Given the description of an element on the screen output the (x, y) to click on. 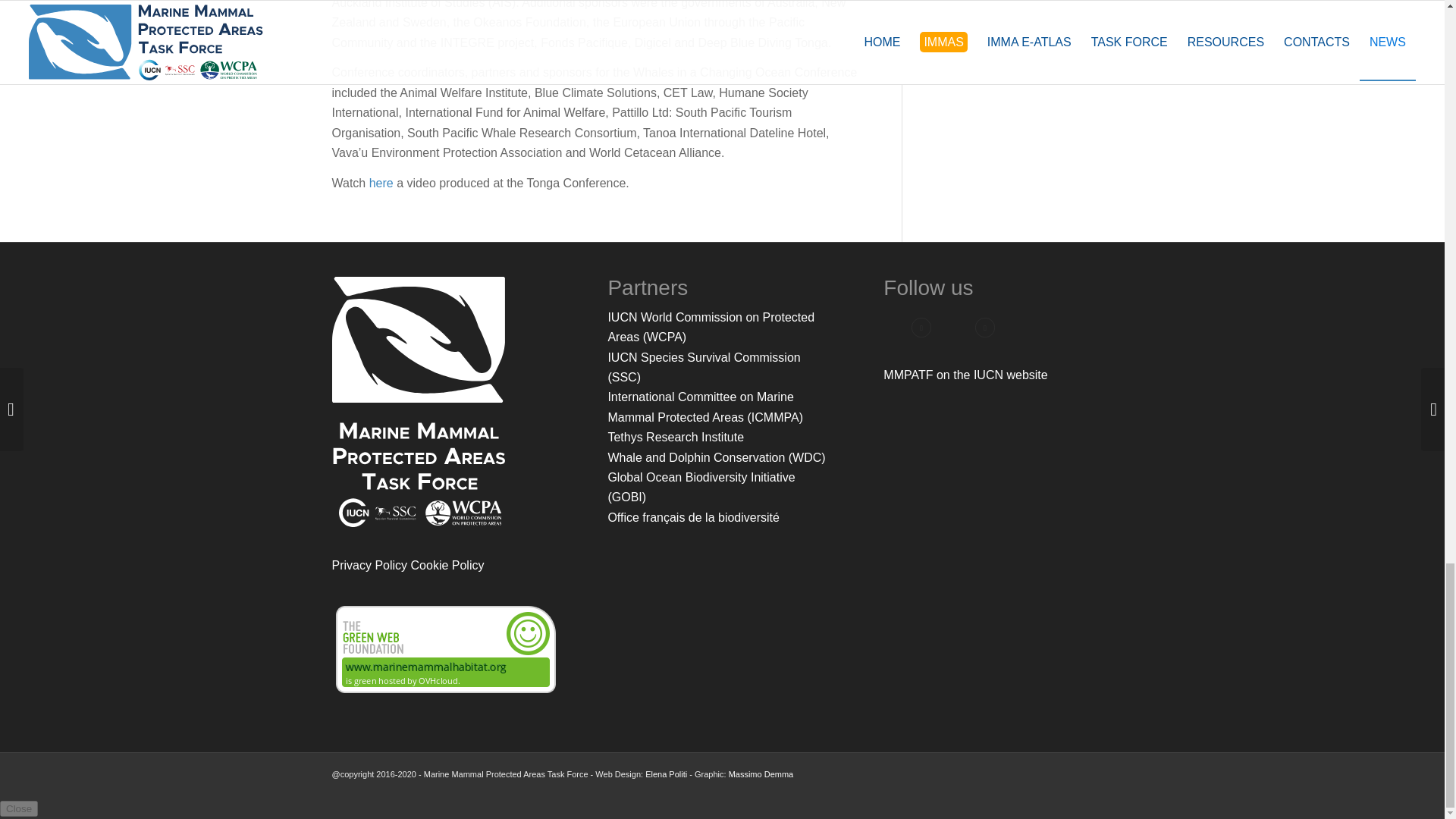
Privacy Policy (369, 564)
Cookie Policy (447, 564)
